Given the description of an element on the screen output the (x, y) to click on. 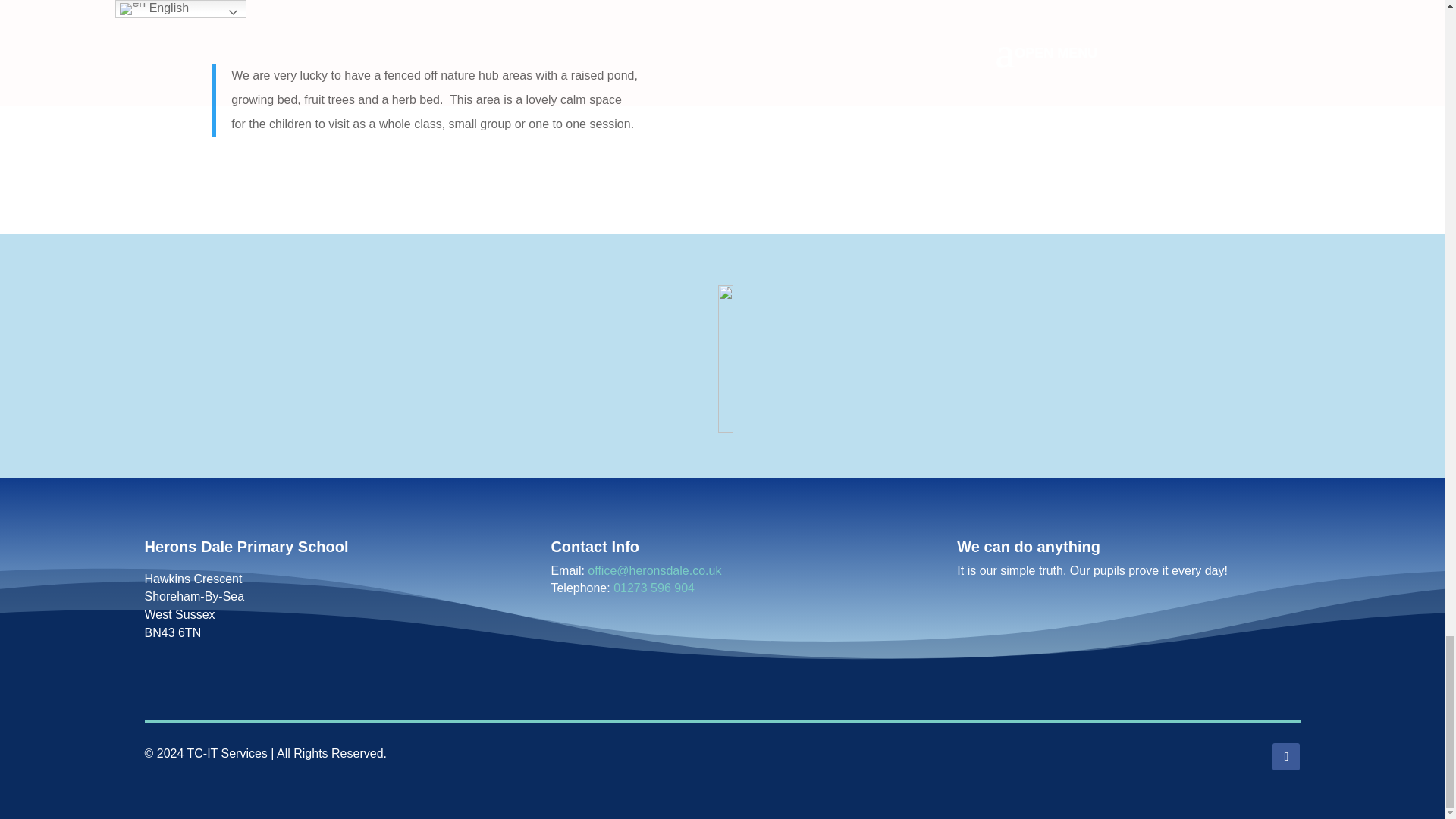
Nature hub (1019, 98)
